Given the description of an element on the screen output the (x, y) to click on. 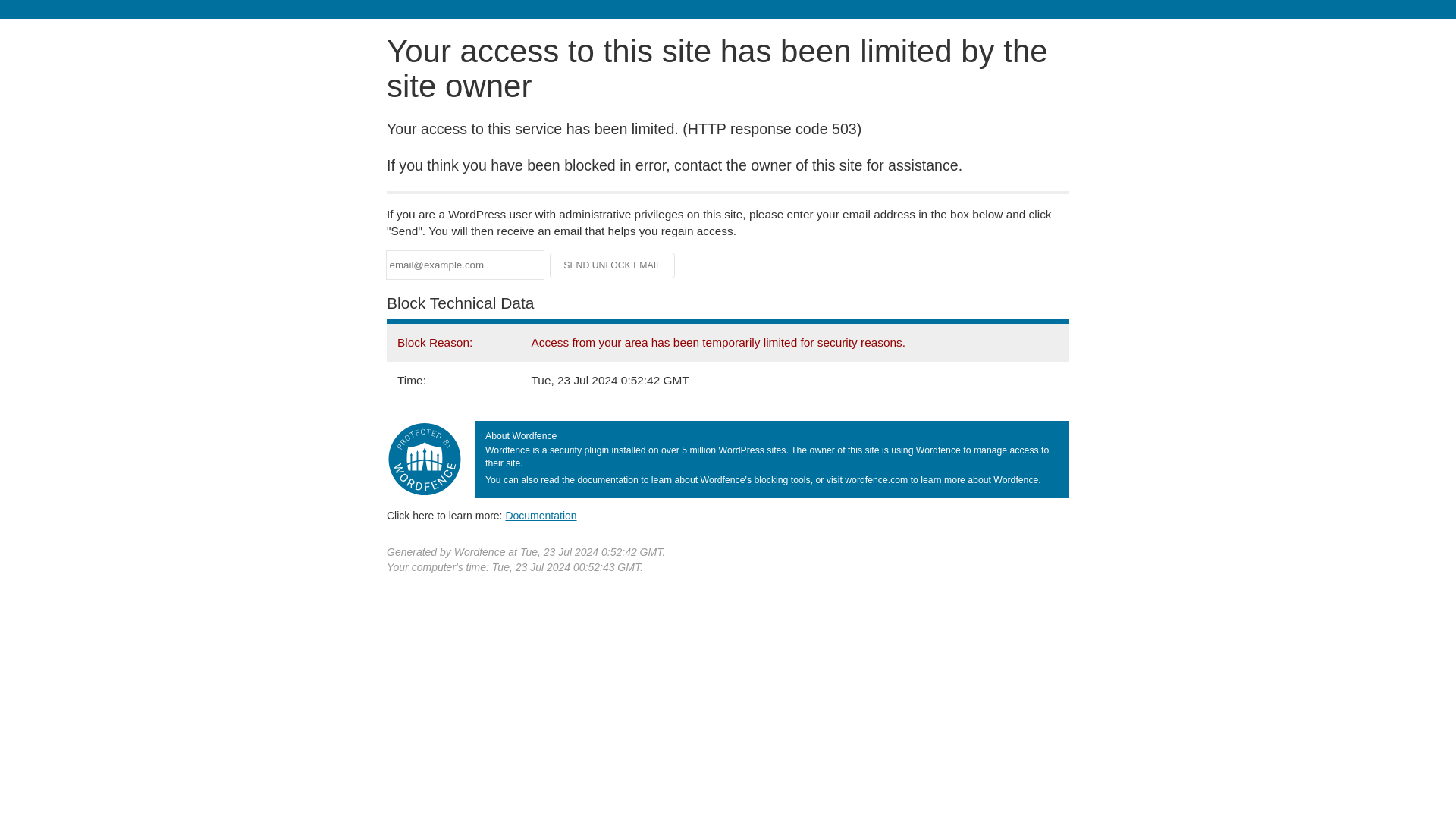
Send Unlock Email (612, 265)
Documentation (540, 515)
Send Unlock Email (612, 265)
